Given the description of an element on the screen output the (x, y) to click on. 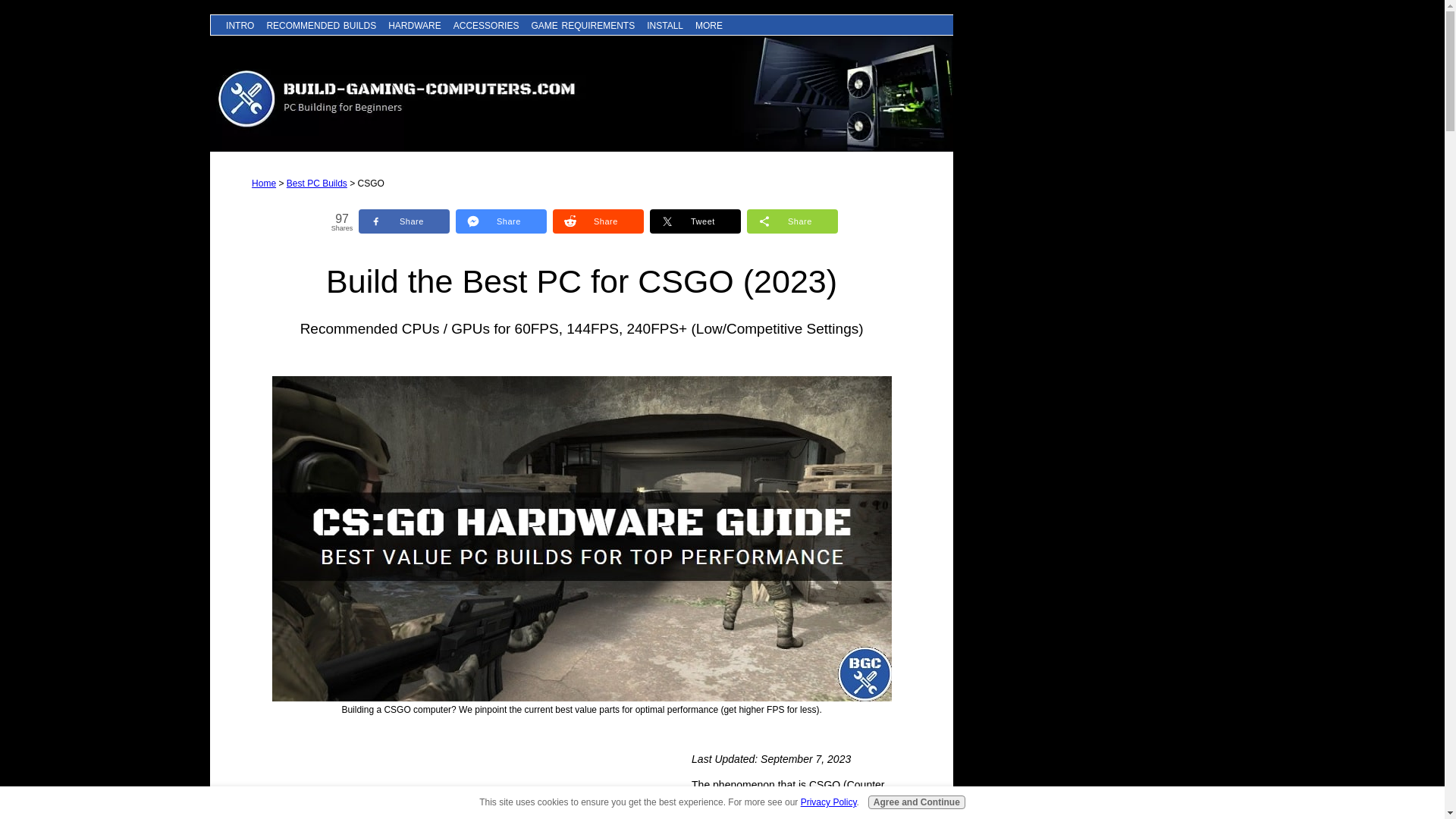
Advertisement (365, 786)
intro (239, 25)
